Given the description of an element on the screen output the (x, y) to click on. 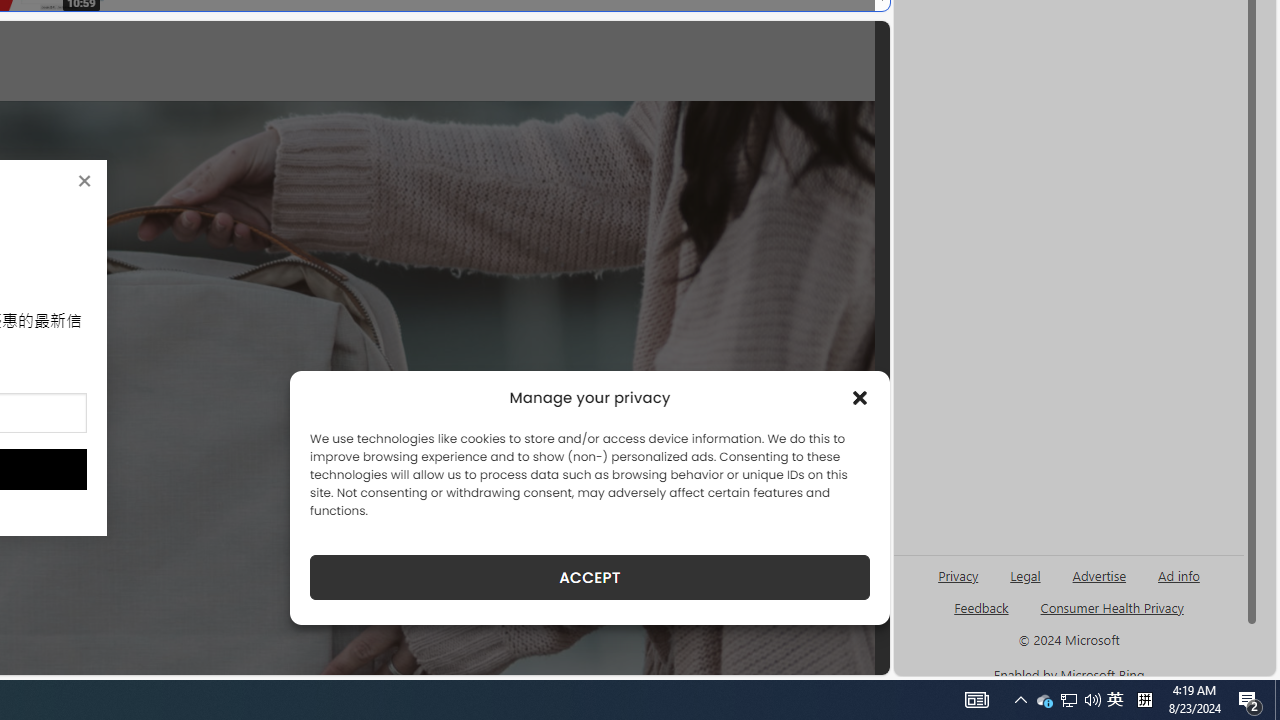
AutomationID: 4105 (976, 699)
Notification Chevron (1020, 699)
Action Center, 2 new notifications (1250, 699)
Tray Input Indicator - Chinese (Simplified, China) (1144, 699)
Q2790: 100% (1092, 699)
AutomationID: genId96 (1044, 699)
User Promoted Notification Area (981, 615)
Class: cmplz-close (1068, 699)
ACCEPT (1069, 699)
Show desktop (859, 398)
